Given the description of an element on the screen output the (x, y) to click on. 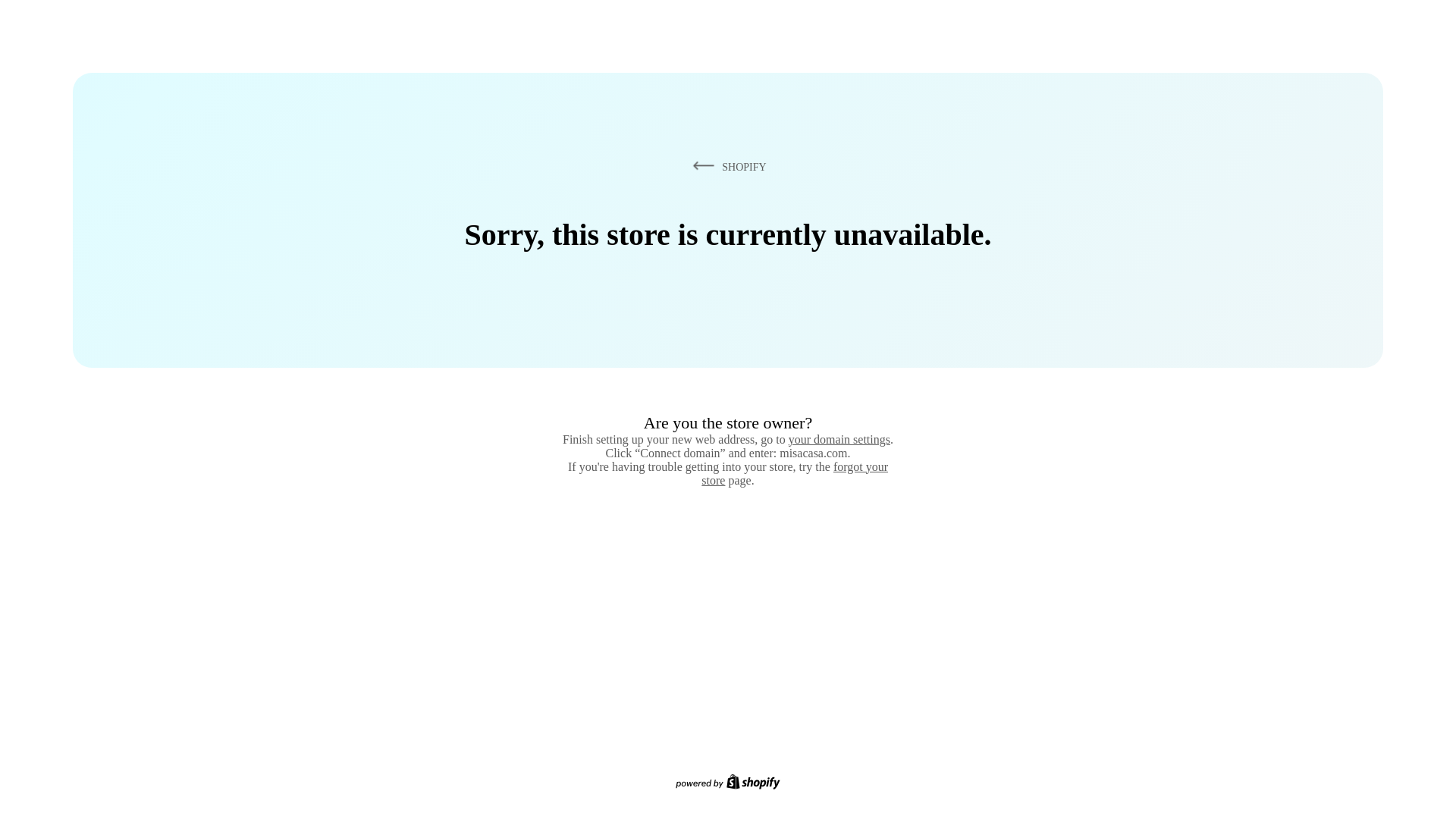
forgot your store (794, 473)
SHOPIFY (726, 166)
your domain settings (839, 439)
